Given the description of an element on the screen output the (x, y) to click on. 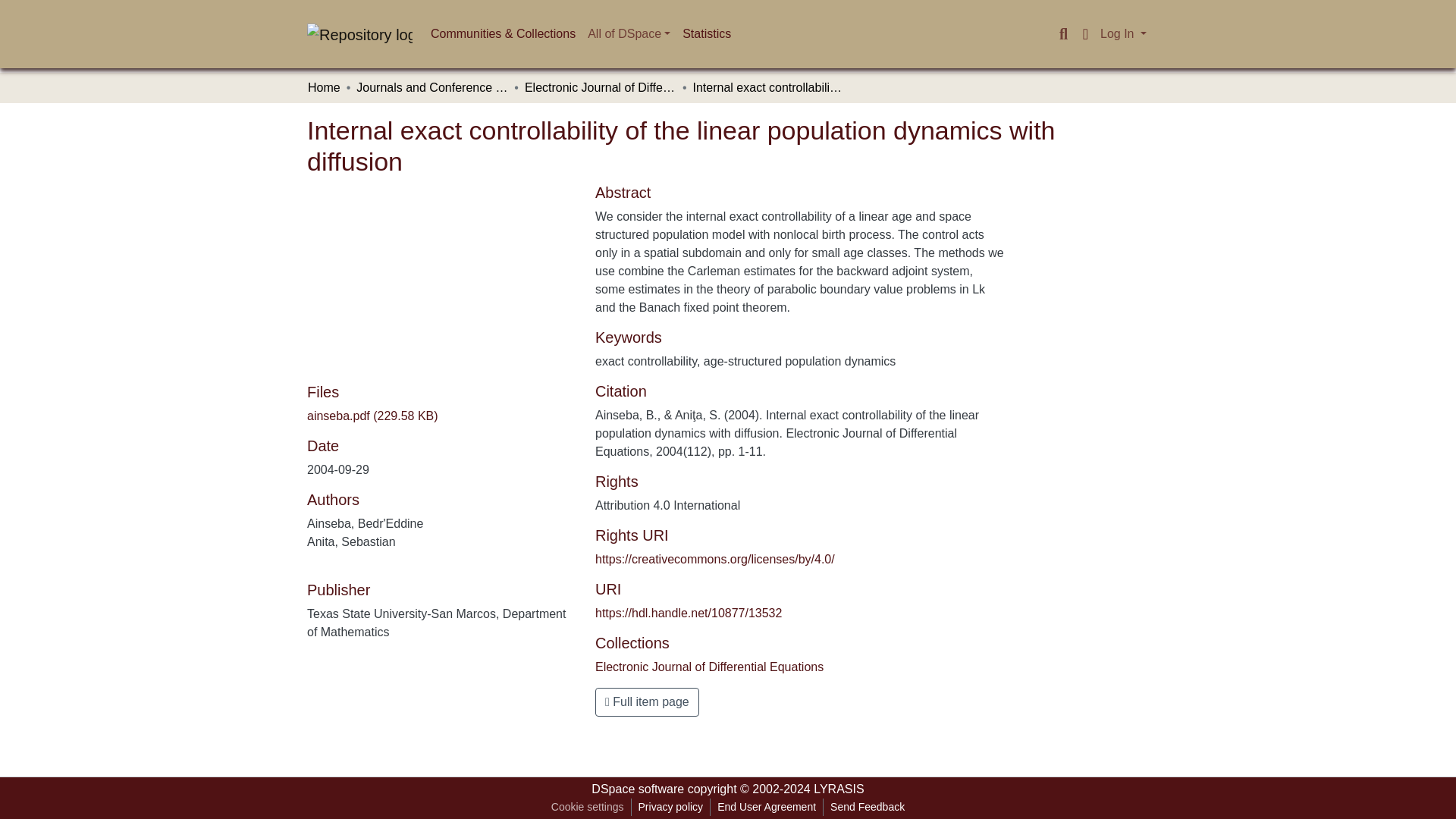
Electronic Journal of Differential Equations (709, 666)
All of DSpace (628, 33)
Electronic Journal of Differential Equations (600, 87)
Statistics (706, 33)
Home (323, 87)
Language switch (1084, 34)
End User Agreement (766, 806)
Log In (1122, 33)
Cookie settings (587, 806)
Search (1063, 34)
Statistics (706, 33)
Privacy policy (670, 806)
DSpace software (637, 788)
Journals and Conference Proceedings (432, 87)
Send Feedback (867, 806)
